Given the description of an element on the screen output the (x, y) to click on. 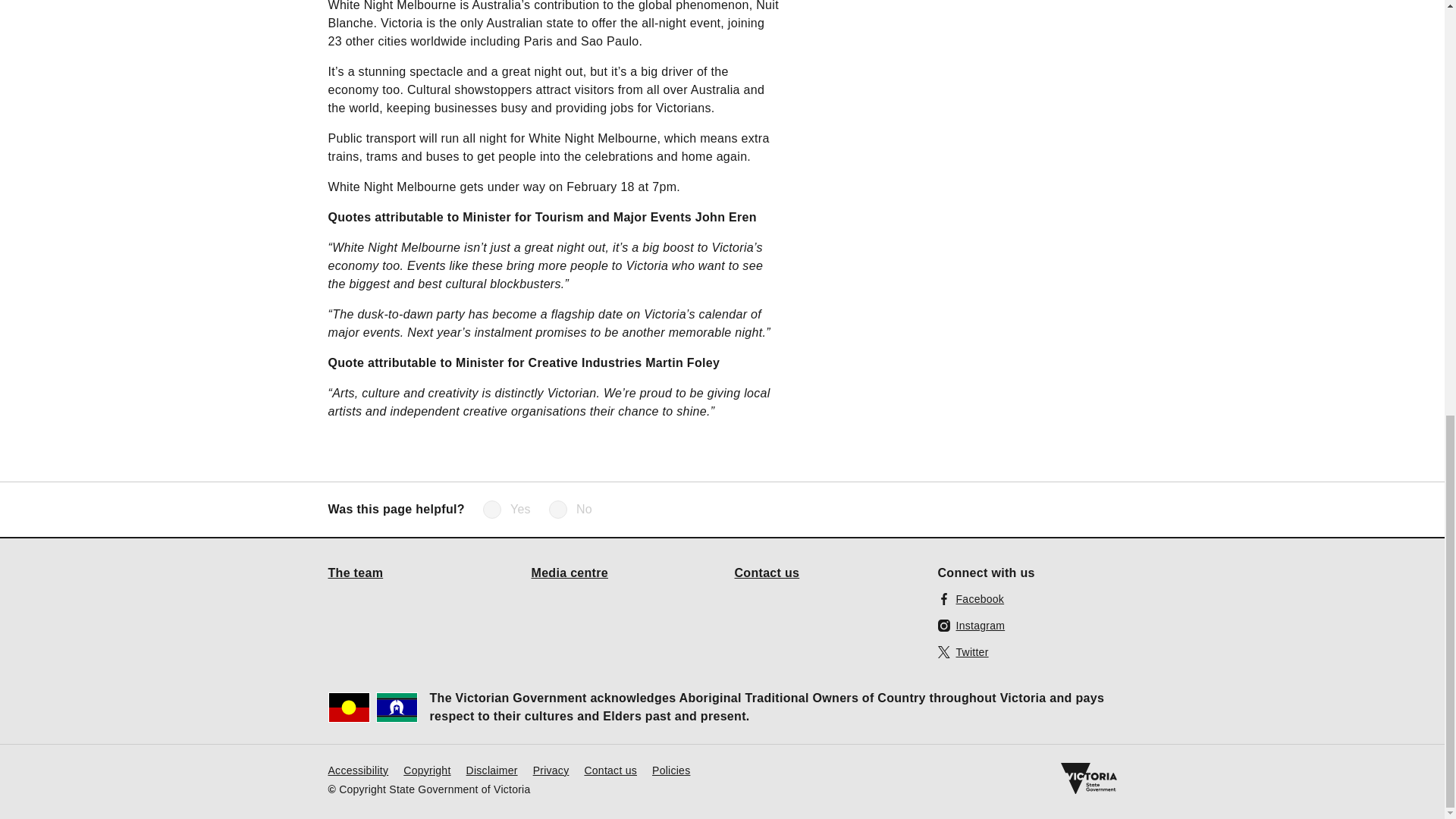
The team (354, 572)
Privacy (550, 769)
Twitter (962, 651)
Contact us (610, 769)
Instagram (970, 625)
Accessibility (357, 769)
Victoria government home (1087, 778)
Policies (671, 769)
Contact us (766, 572)
Copyright (426, 769)
